Given the description of an element on the screen output the (x, y) to click on. 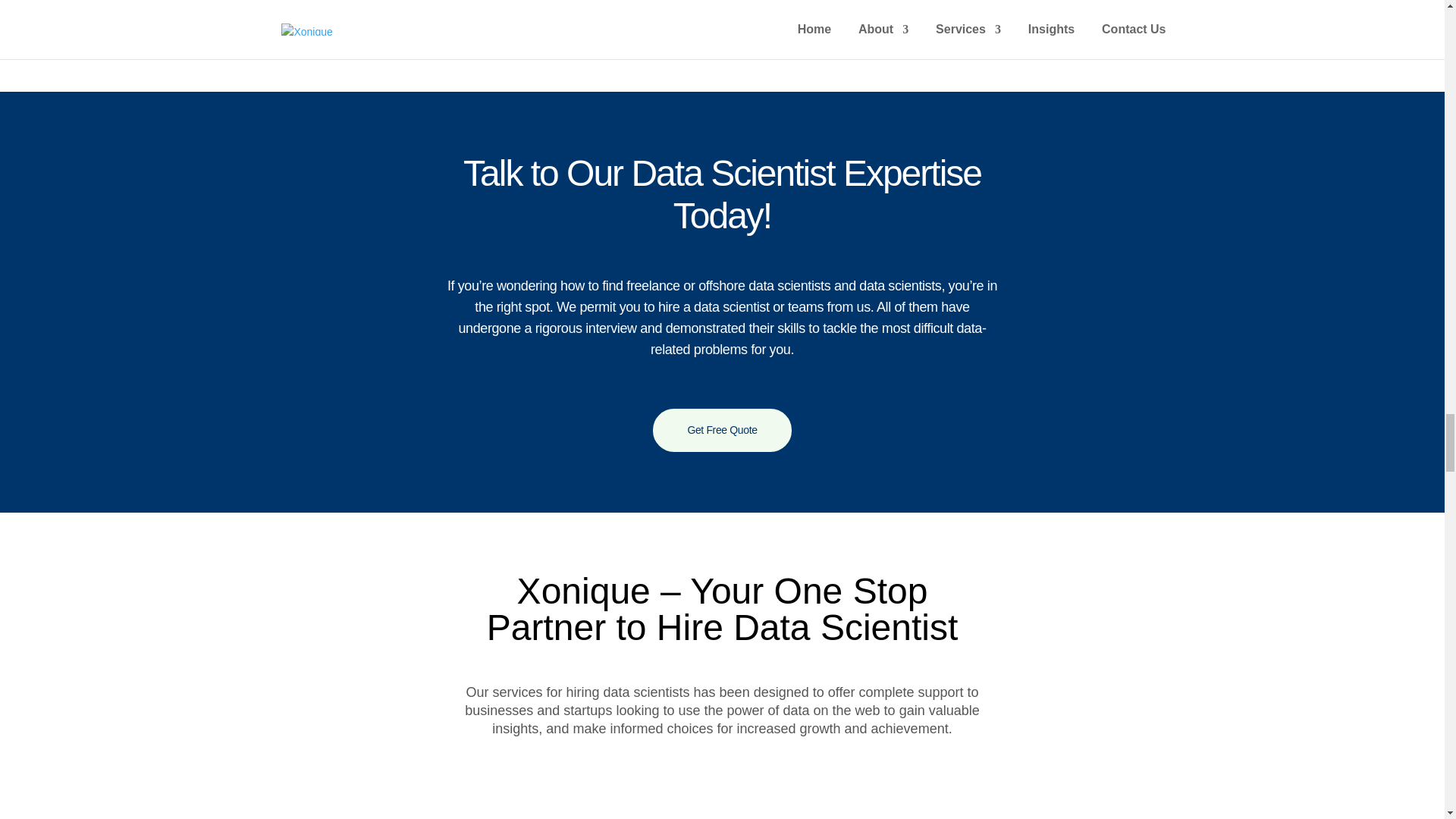
xonique-your-one-stop-partner-to-hire-data-scientist-45 (721, 809)
